Given the description of an element on the screen output the (x, y) to click on. 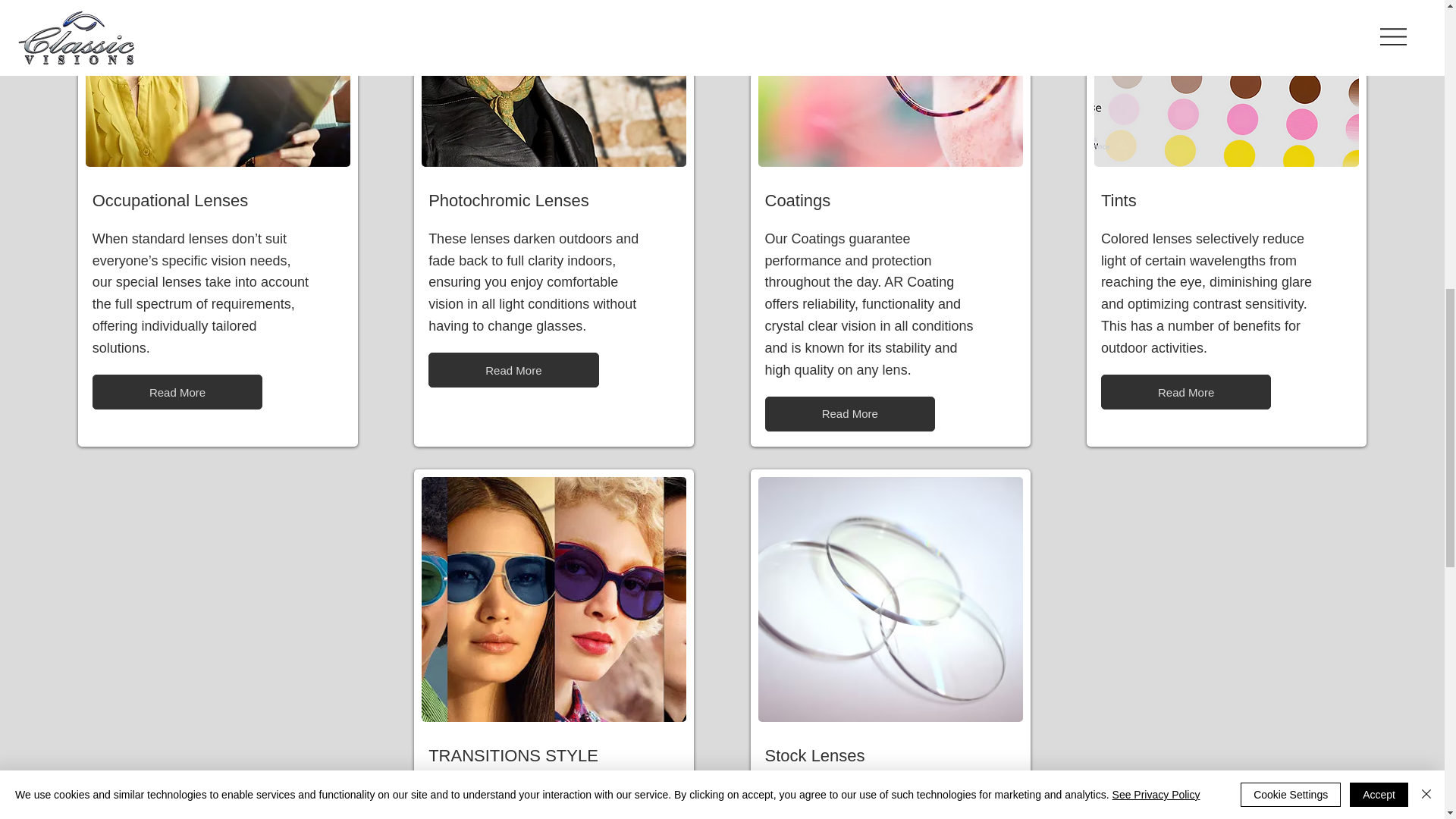
Read More (178, 391)
Read More (513, 369)
Read More (849, 413)
Read More (1185, 391)
